Given the description of an element on the screen output the (x, y) to click on. 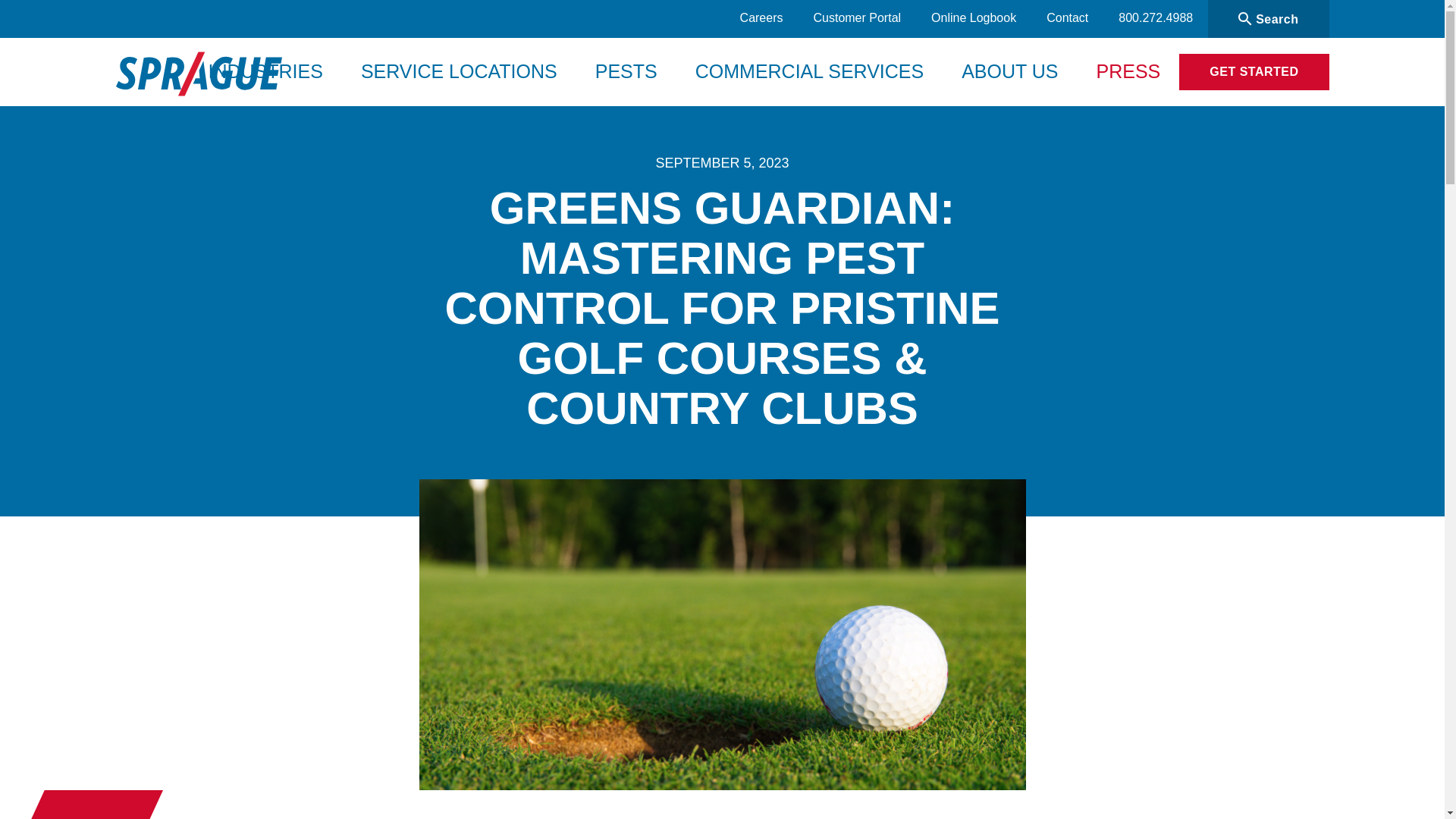
PESTS (625, 71)
INDUSTRIES (264, 71)
Search Icon Created With Sketchtool. (1245, 18)
SERVICE LOCATIONS (459, 71)
ABOUT US (1009, 71)
Sprague Pest Solutions (198, 77)
COMMERCIAL SERVICES (809, 71)
